Given the description of an element on the screen output the (x, y) to click on. 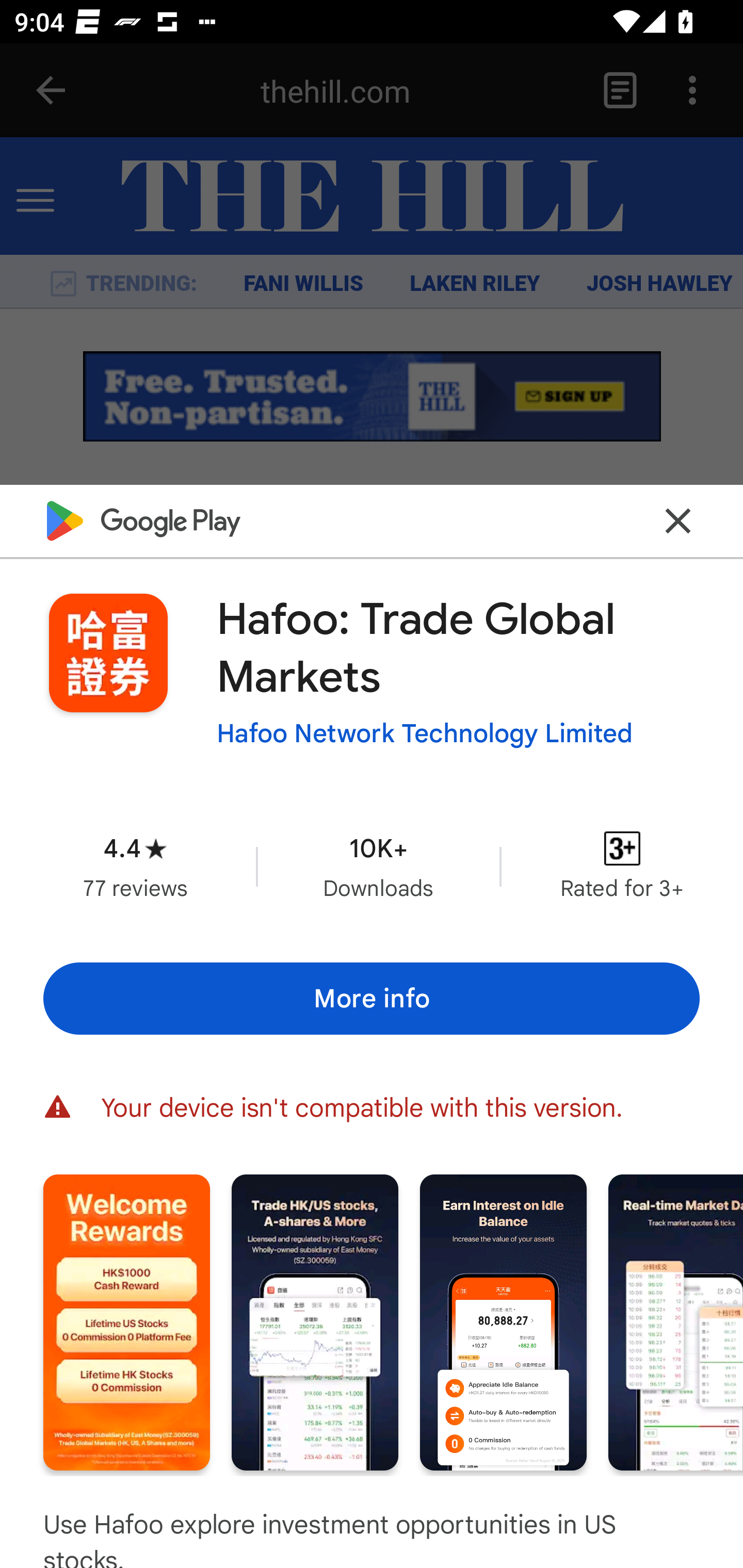
Close (677, 520)
Hafoo Network Technology Limited (424, 732)
More info (371, 998)
Screenshot "1" of "8" (126, 1322)
Screenshot "2" of "8" (314, 1322)
Screenshot "3" of "8" (502, 1322)
Screenshot "4" of "8" (675, 1322)
